Given the description of an element on the screen output the (x, y) to click on. 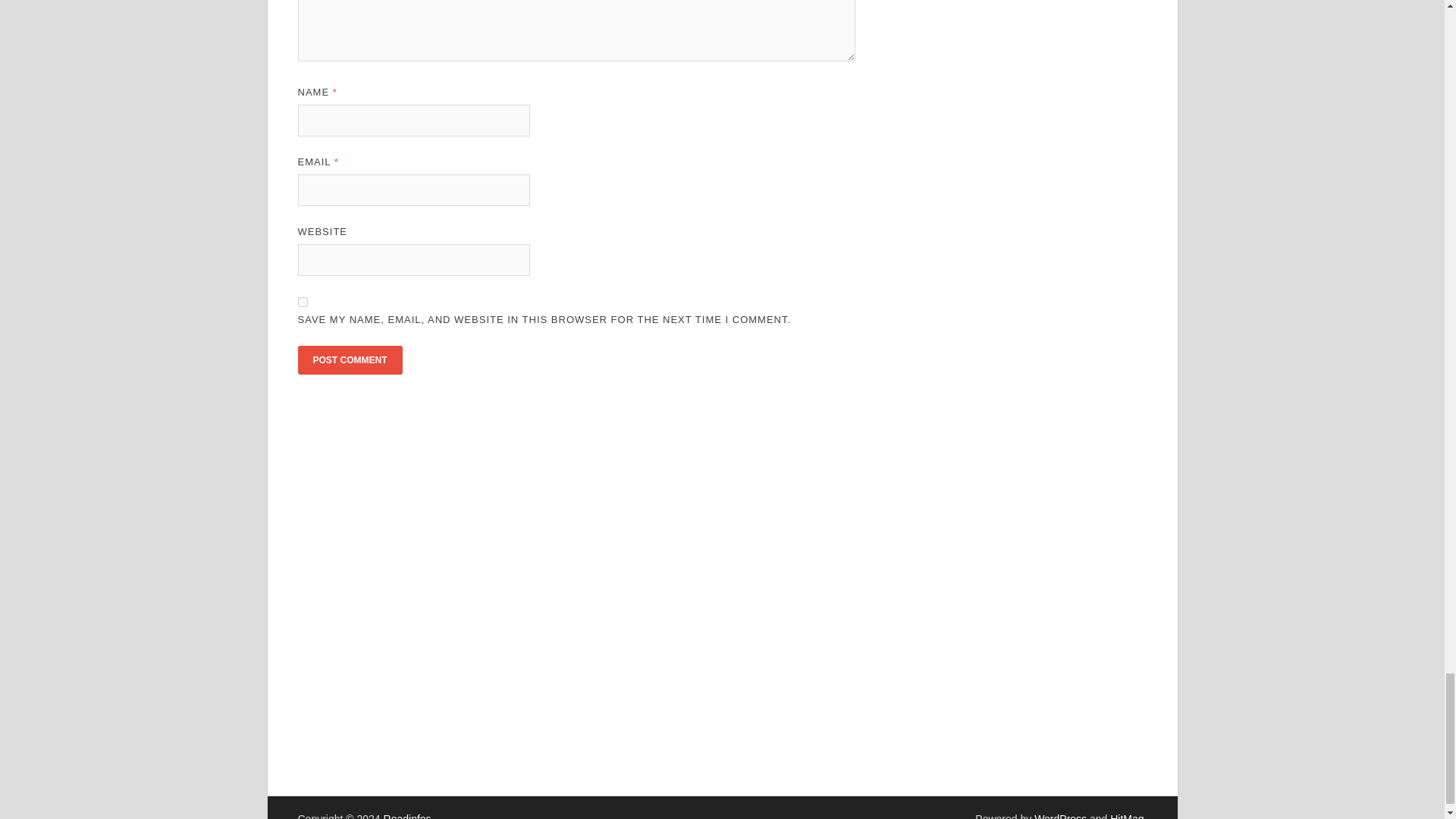
yes (302, 302)
Post Comment (349, 359)
